Given the description of an element on the screen output the (x, y) to click on. 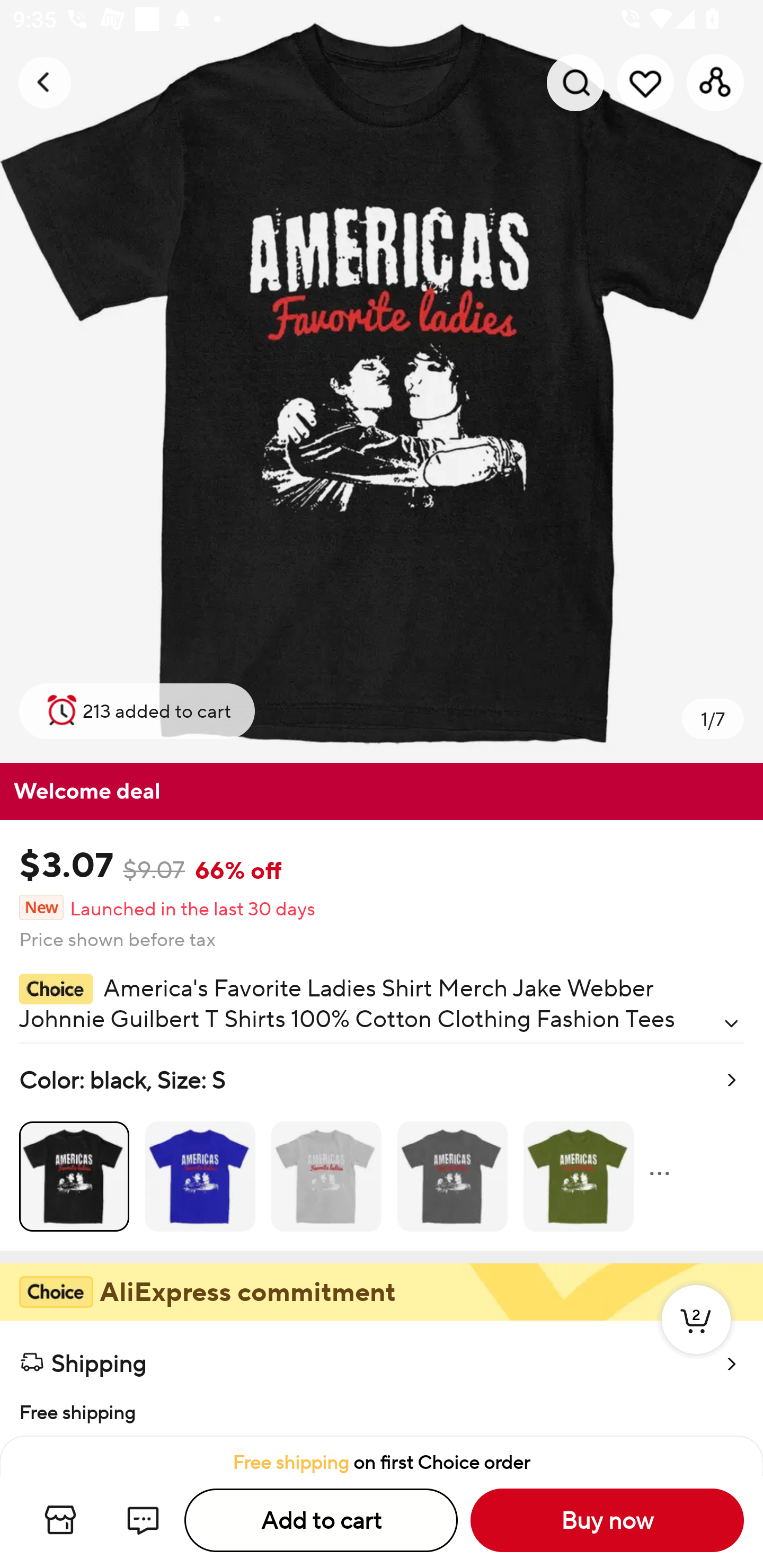
Navigate up (44, 82)
 (730, 1023)
Color: black, Size: S  (381, 1147)
2 (695, 1338)
Shipping  Free shipping  delivery by Mar 19 - 22  (381, 1378)
Free shipping  delivery by Mar 19 - 22  (381, 1410)
Add to cart (320, 1520)
Buy now (606, 1520)
